Given the description of an element on the screen output the (x, y) to click on. 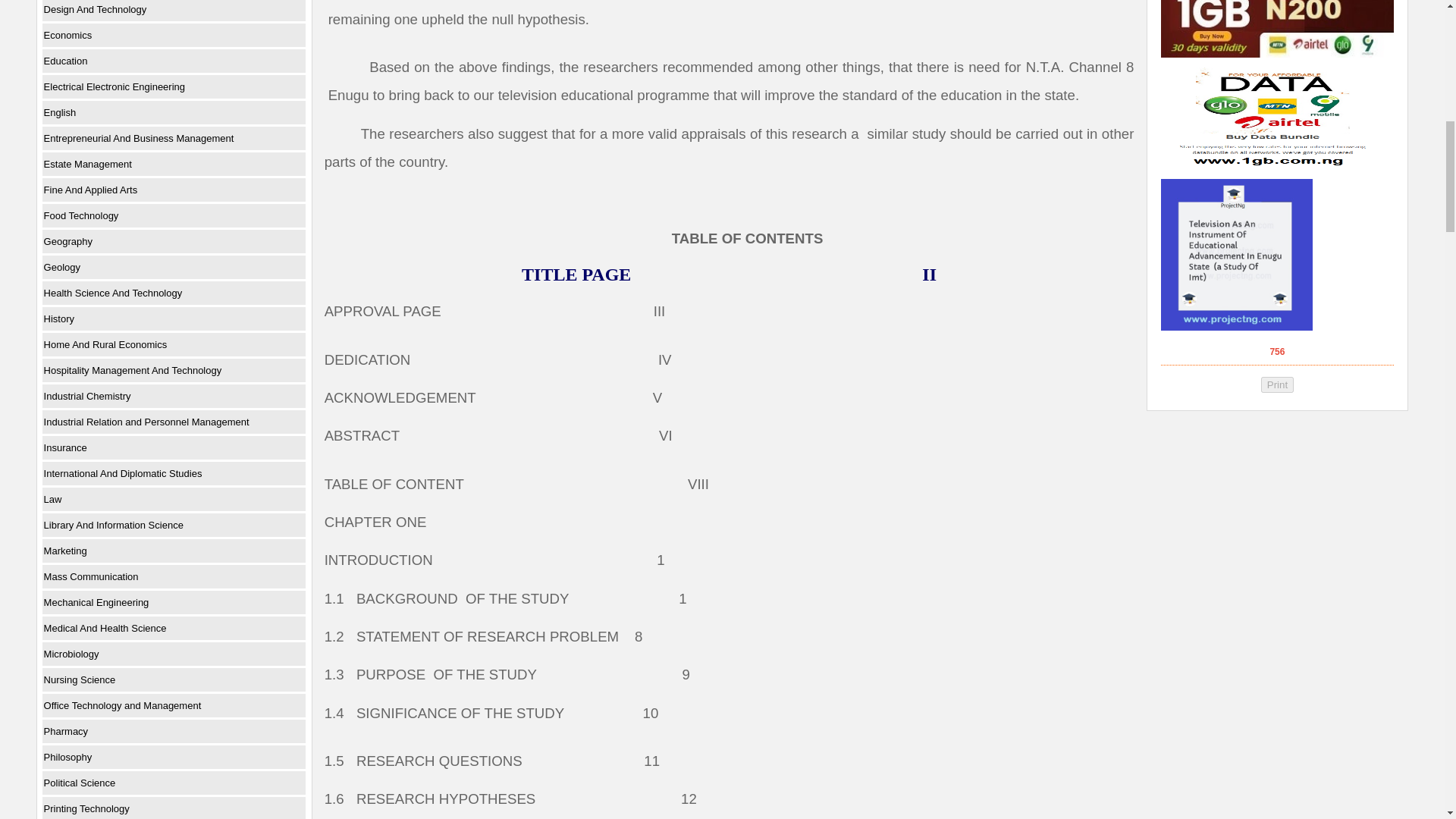
Print (1277, 384)
